Given the description of an element on the screen output the (x, y) to click on. 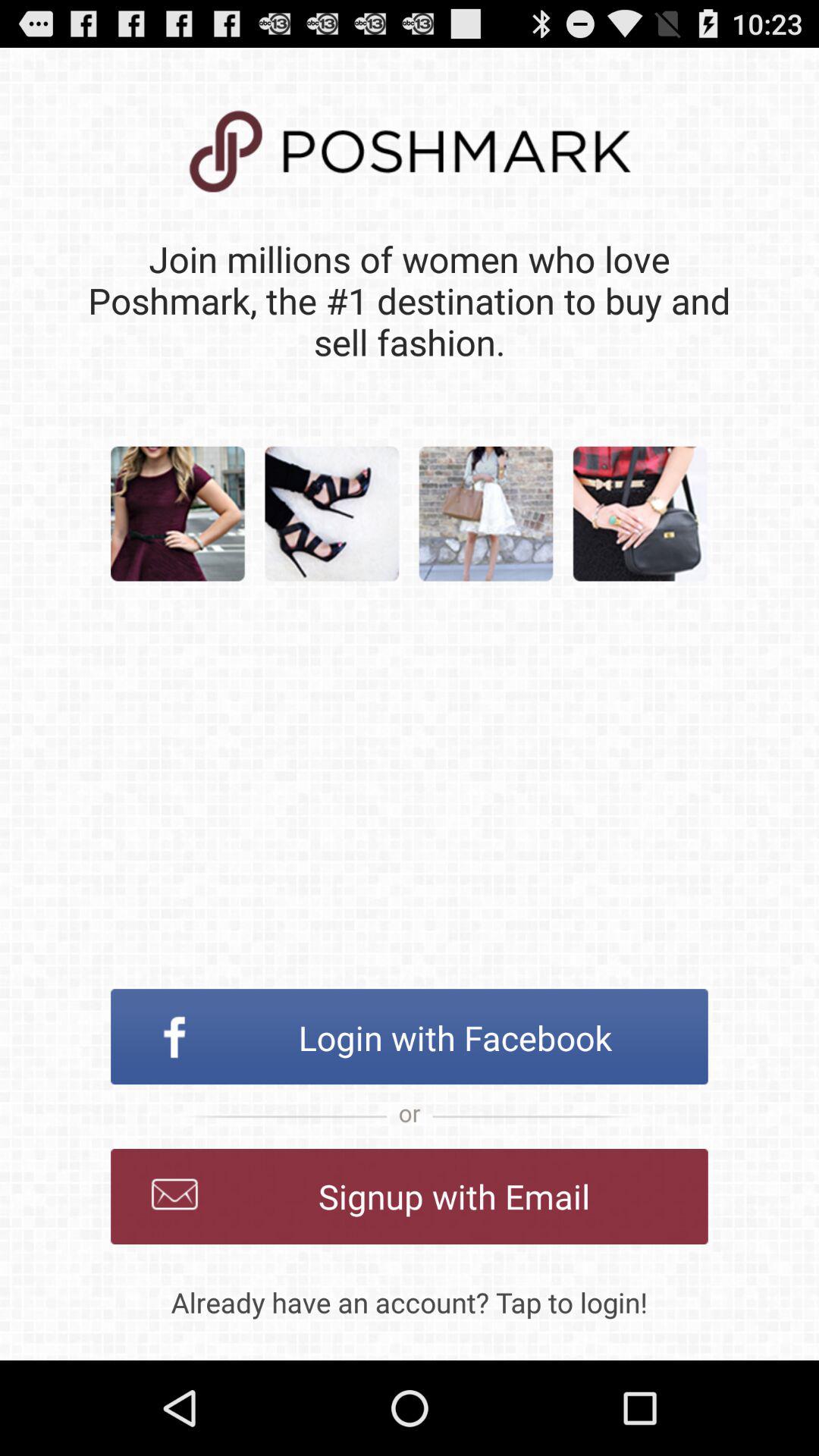
select the item below the signup with email icon (409, 1302)
